Given the description of an element on the screen output the (x, y) to click on. 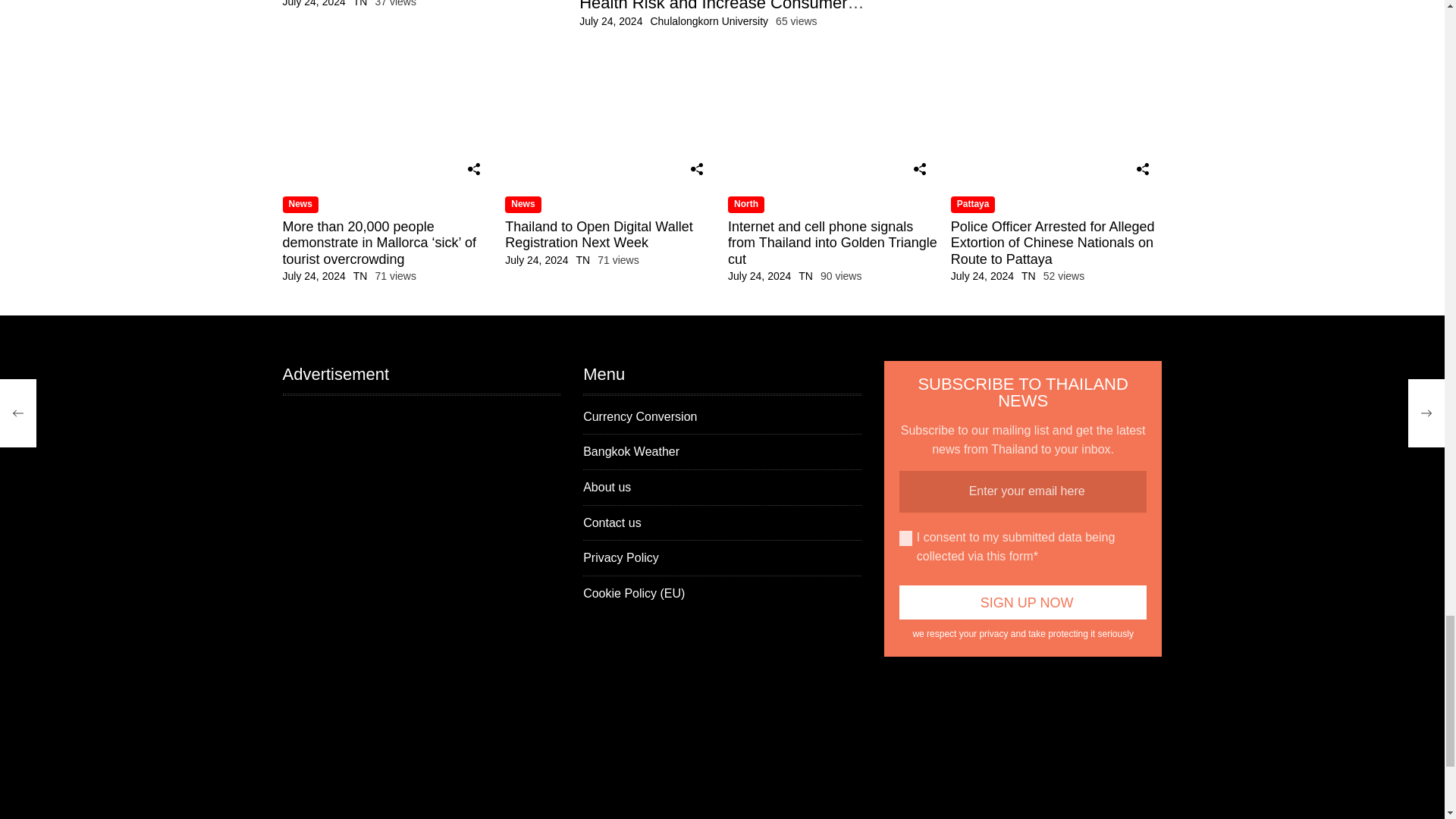
on (905, 538)
Sign Up Now (1023, 602)
